Given the description of an element on the screen output the (x, y) to click on. 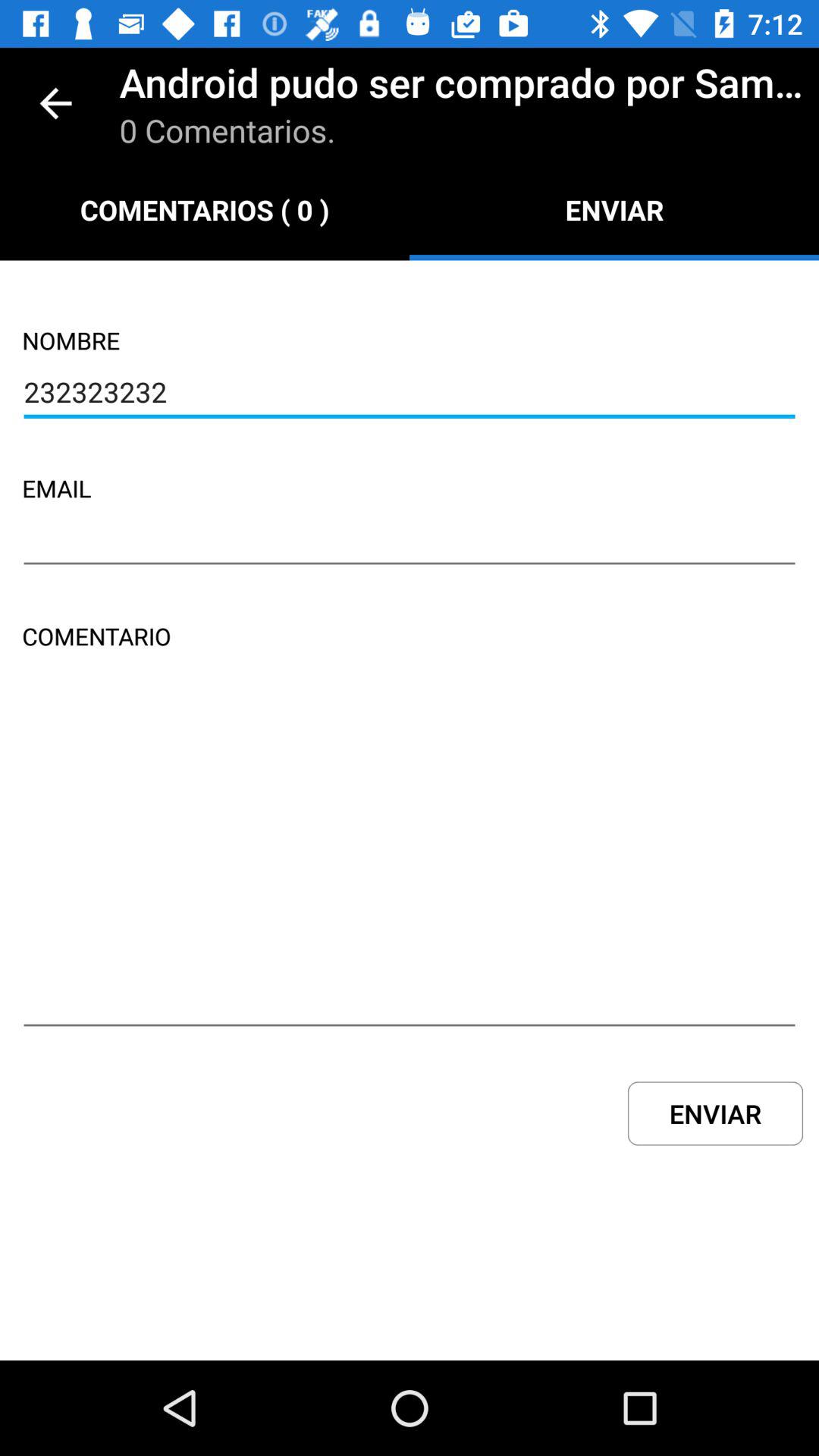
turn on the icon above the comentarios ( 0 ) (55, 103)
